Given the description of an element on the screen output the (x, y) to click on. 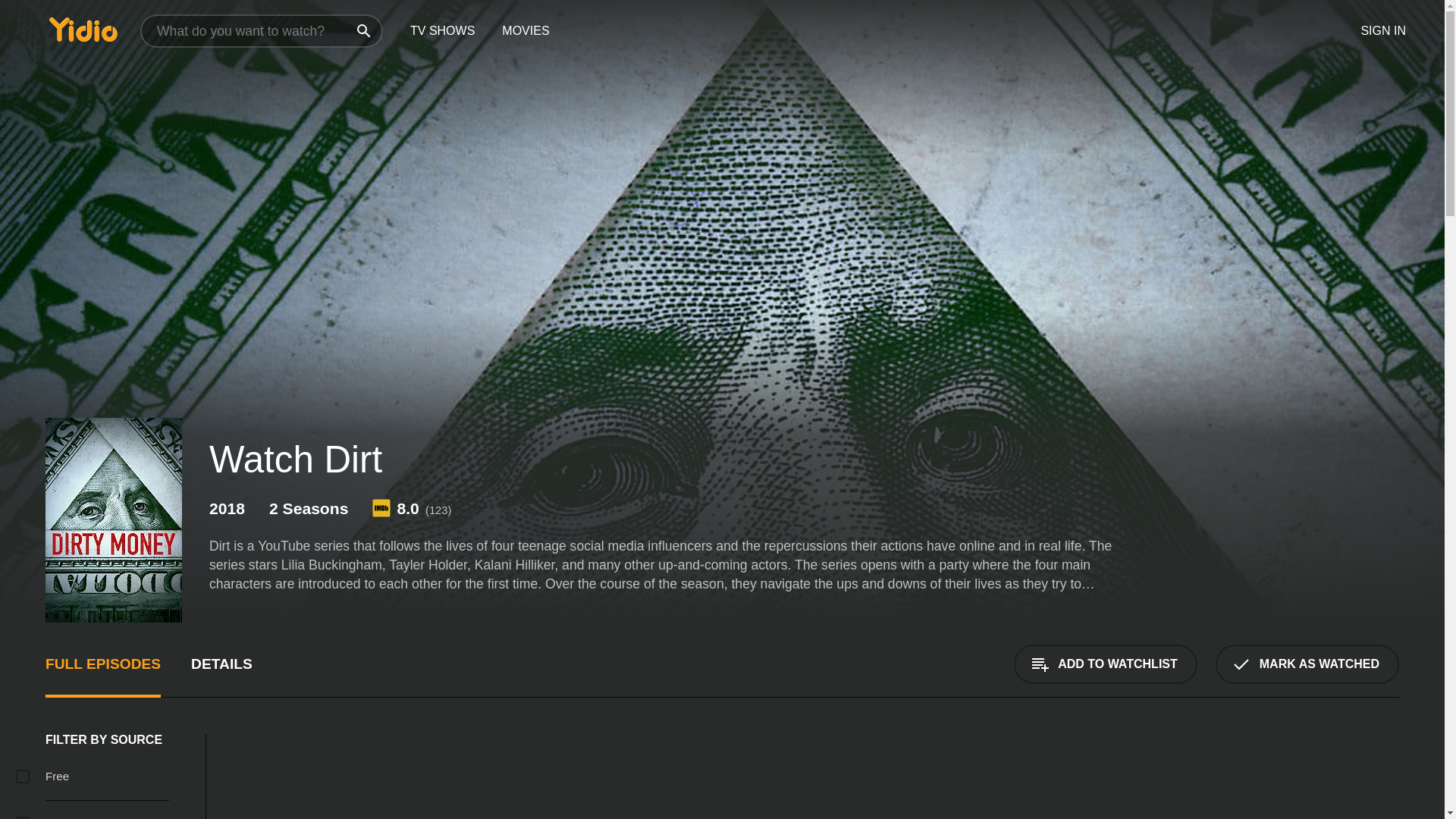
MOVIES (524, 31)
MARK AS WATCHED (1307, 663)
TV SHOWS (441, 31)
Yidio (82, 29)
free (22, 775)
ADD TO WATCHLIST (1104, 663)
